Given the description of an element on the screen output the (x, y) to click on. 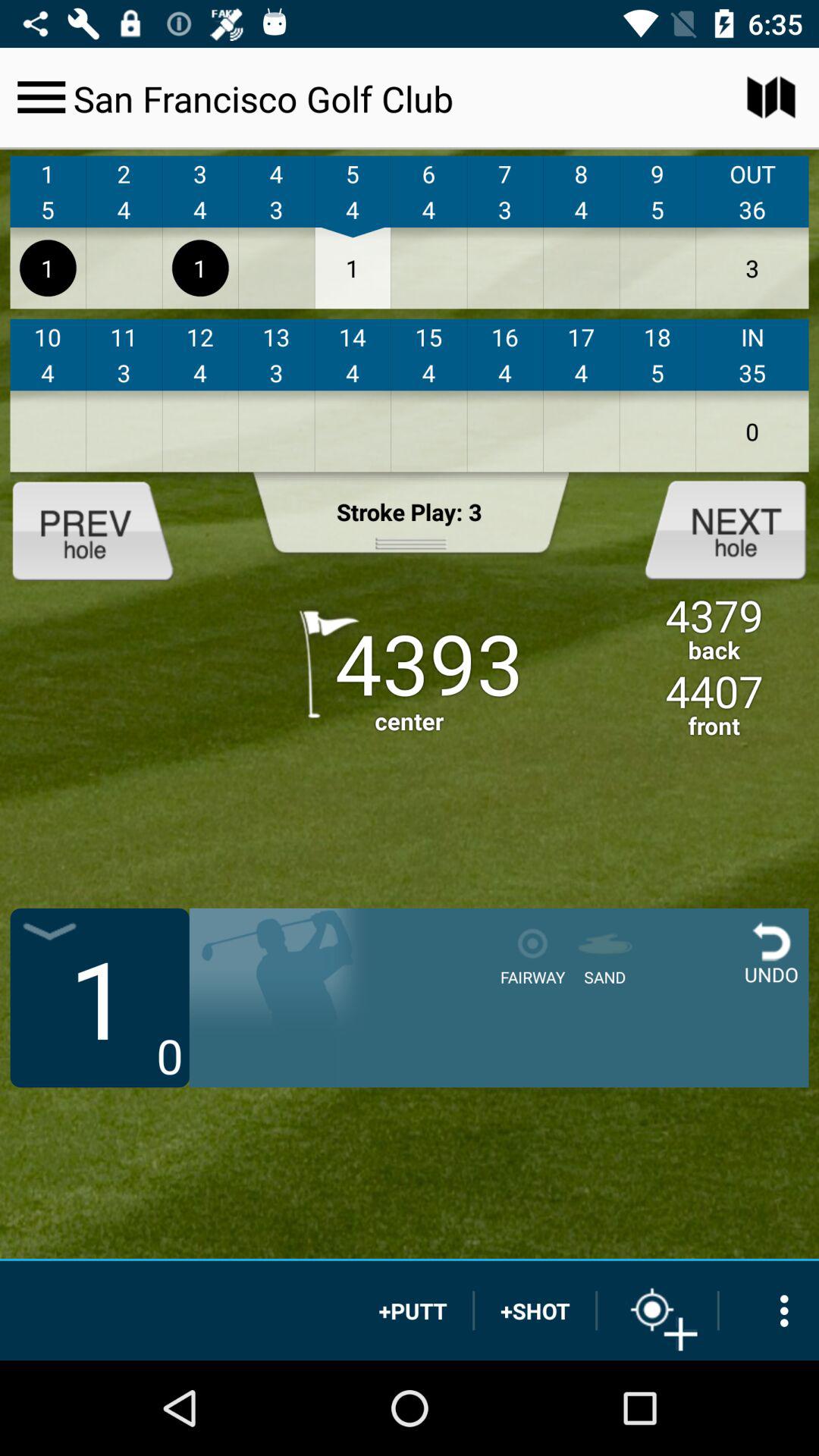
view options (769, 1310)
